Given the description of an element on the screen output the (x, y) to click on. 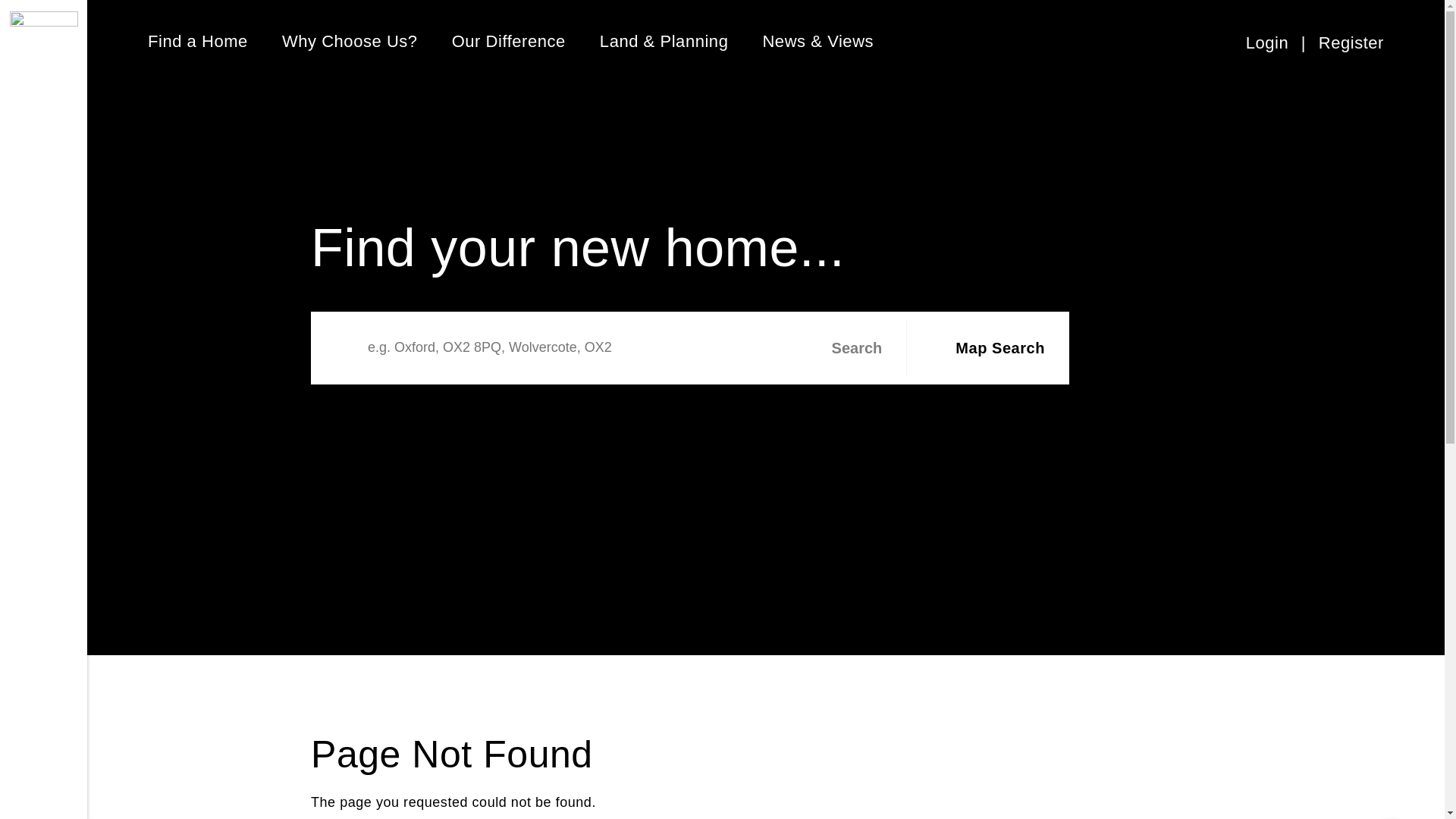
Map Search (984, 347)
Why Choose Us? (349, 40)
Our Difference (508, 40)
Find a Home (197, 40)
Search (844, 347)
